Given the description of an element on the screen output the (x, y) to click on. 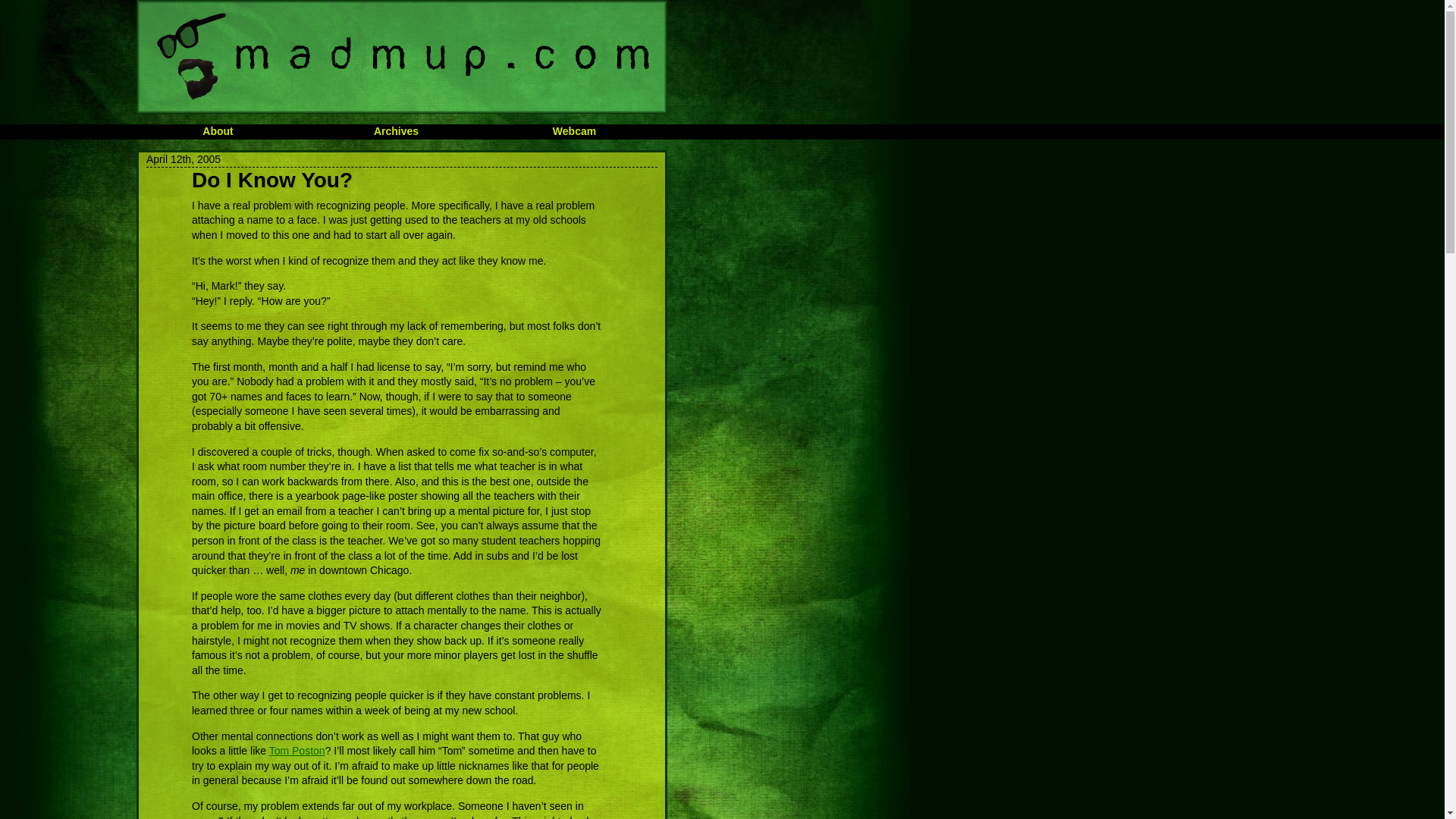
MadMup.com (401, 56)
Webcam (574, 131)
Tom Poston (296, 750)
About (217, 131)
Archives (396, 131)
